Given the description of an element on the screen output the (x, y) to click on. 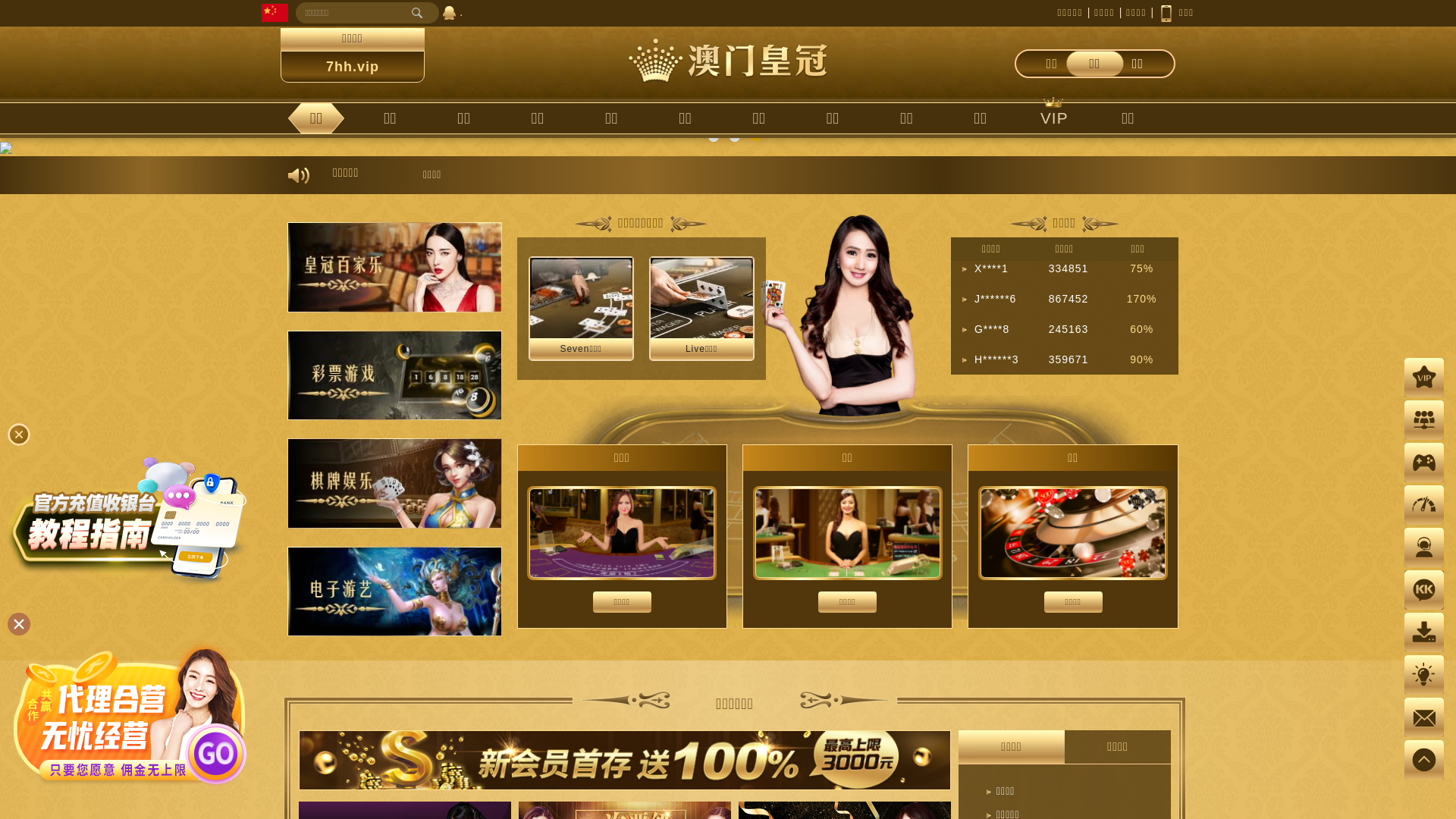
VIP Element type: text (1053, 118)
